Given the description of an element on the screen output the (x, y) to click on. 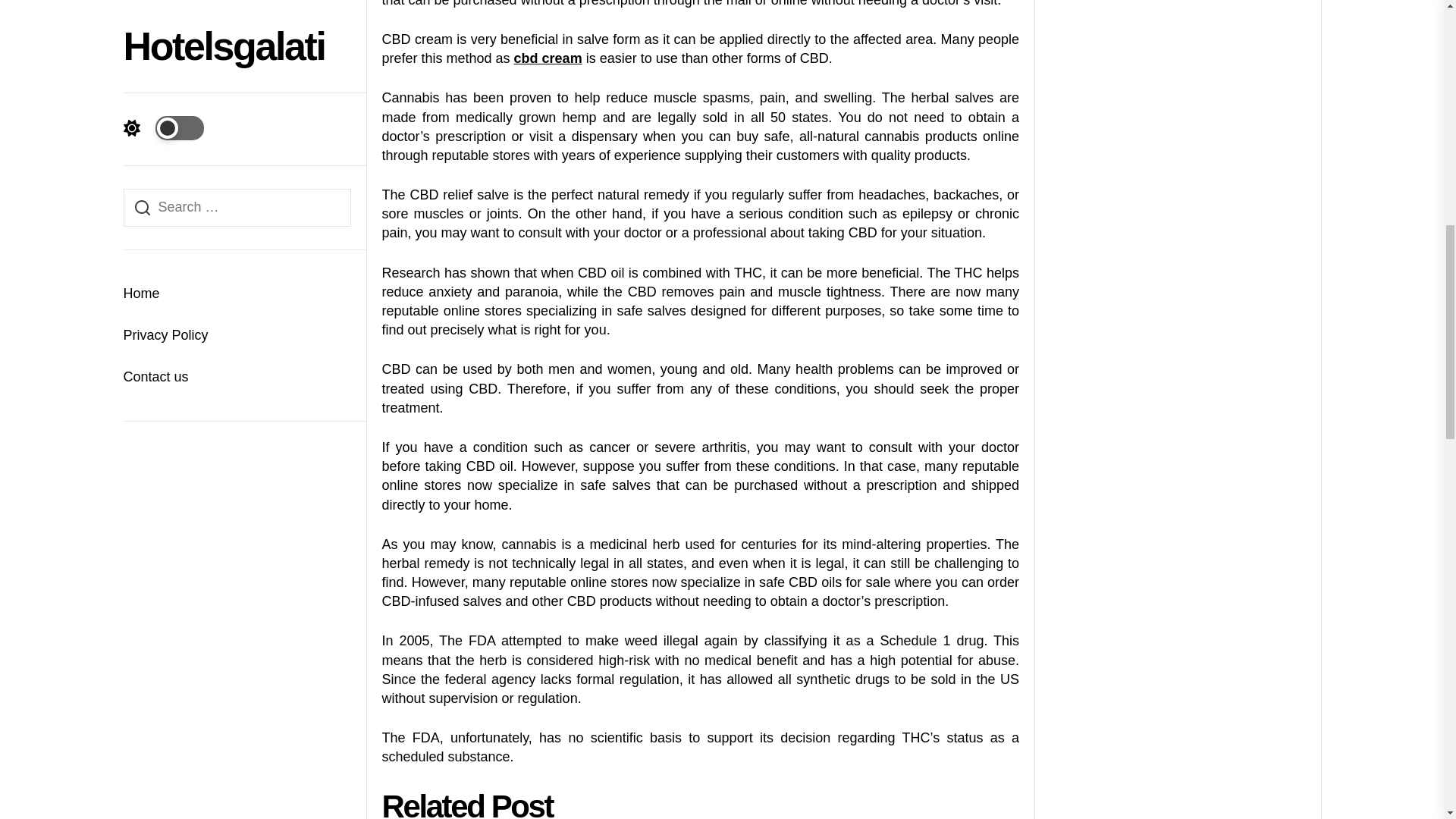
cbd cream (547, 58)
